Given the description of an element on the screen output the (x, y) to click on. 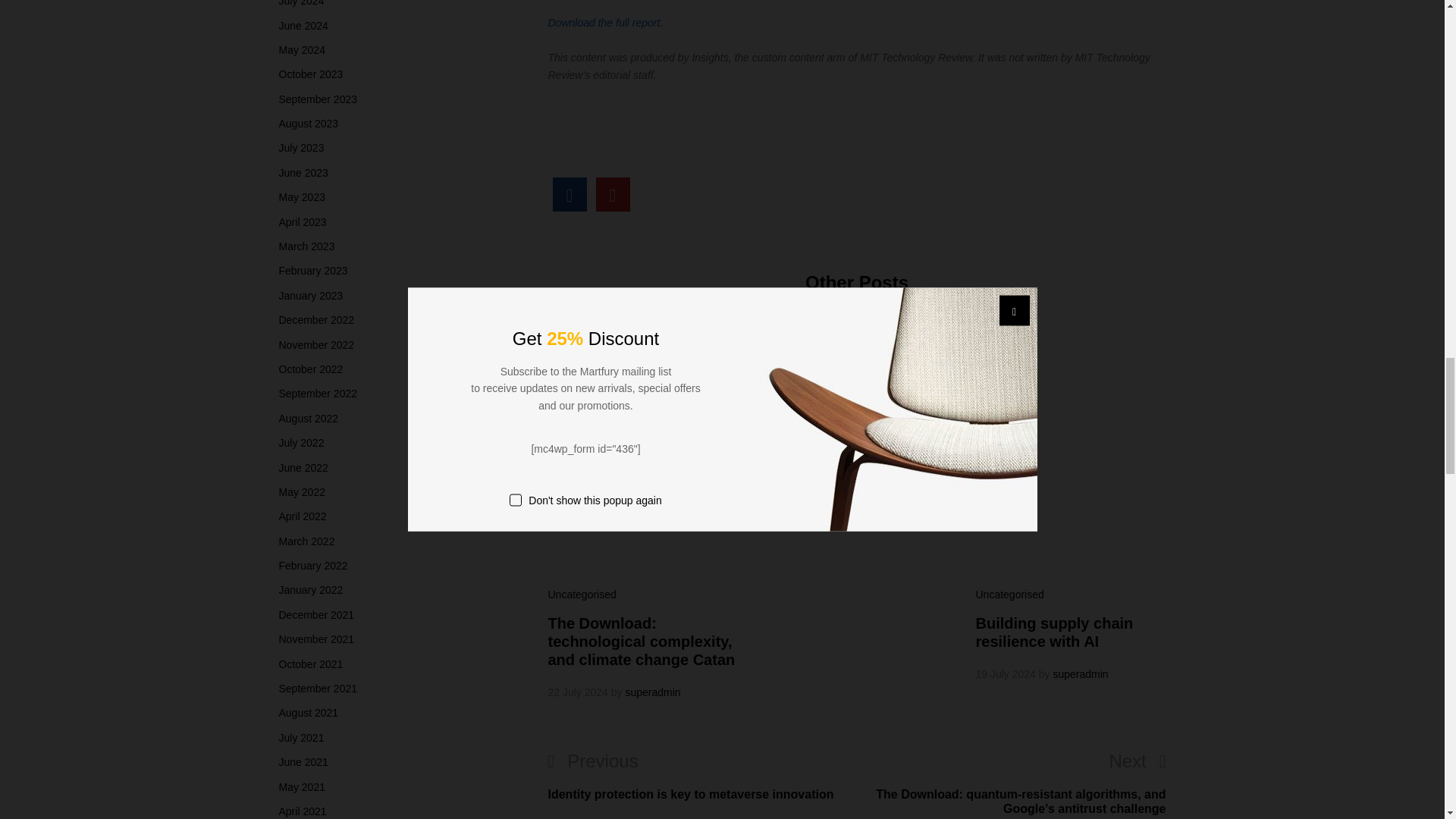
22 July 2024 (577, 692)
superadmin (651, 692)
Download the full report. (604, 22)
Embracing CX in the metaverse (568, 194)
Uncategorised (795, 382)
Uncategorised (581, 594)
How to fix a Windows PC affected by the global outage (851, 429)
